Given the description of an element on the screen output the (x, y) to click on. 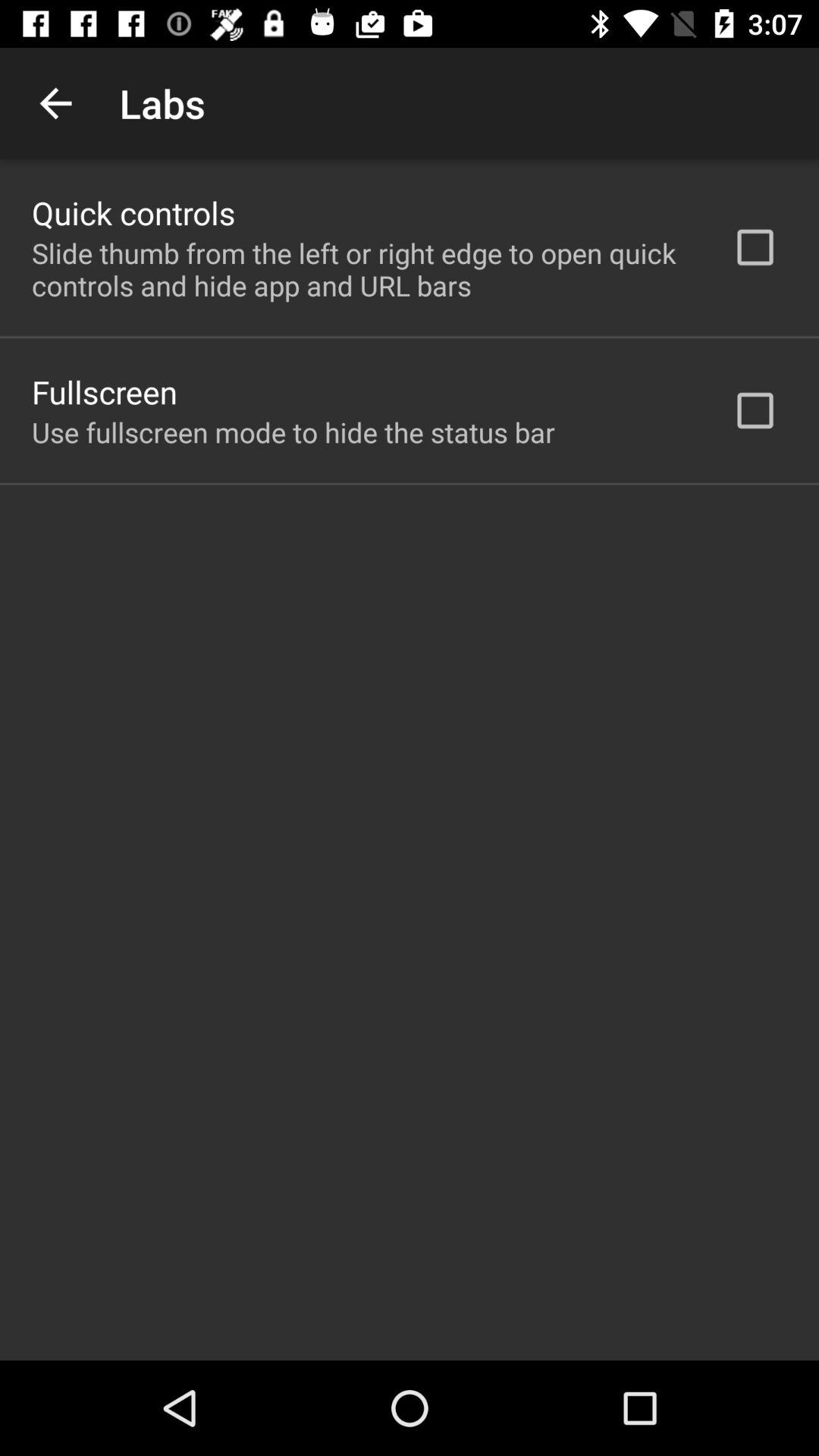
choose app above the fullscreen item (361, 269)
